Given the description of an element on the screen output the (x, y) to click on. 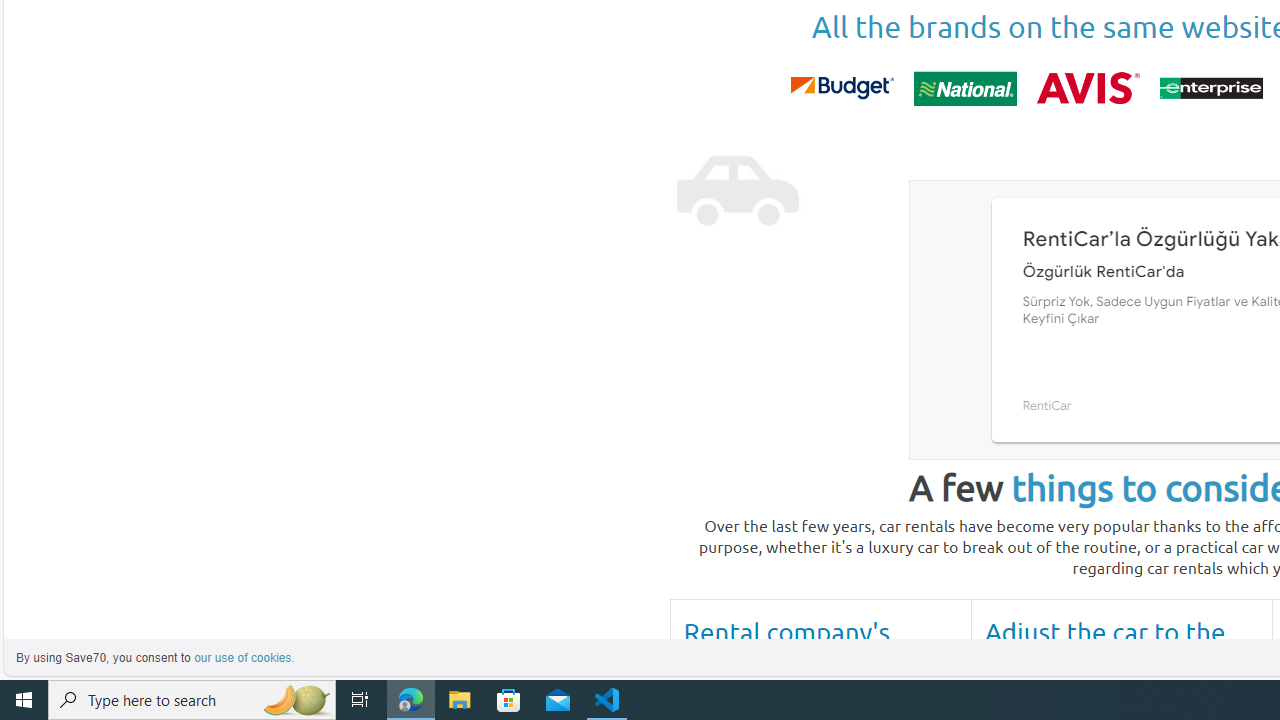
RentiCar (1046, 404)
enterprice (1210, 88)
Budget (841, 88)
national (964, 88)
avis (1087, 88)
learn more about cookies (244, 657)
